Given the description of an element on the screen output the (x, y) to click on. 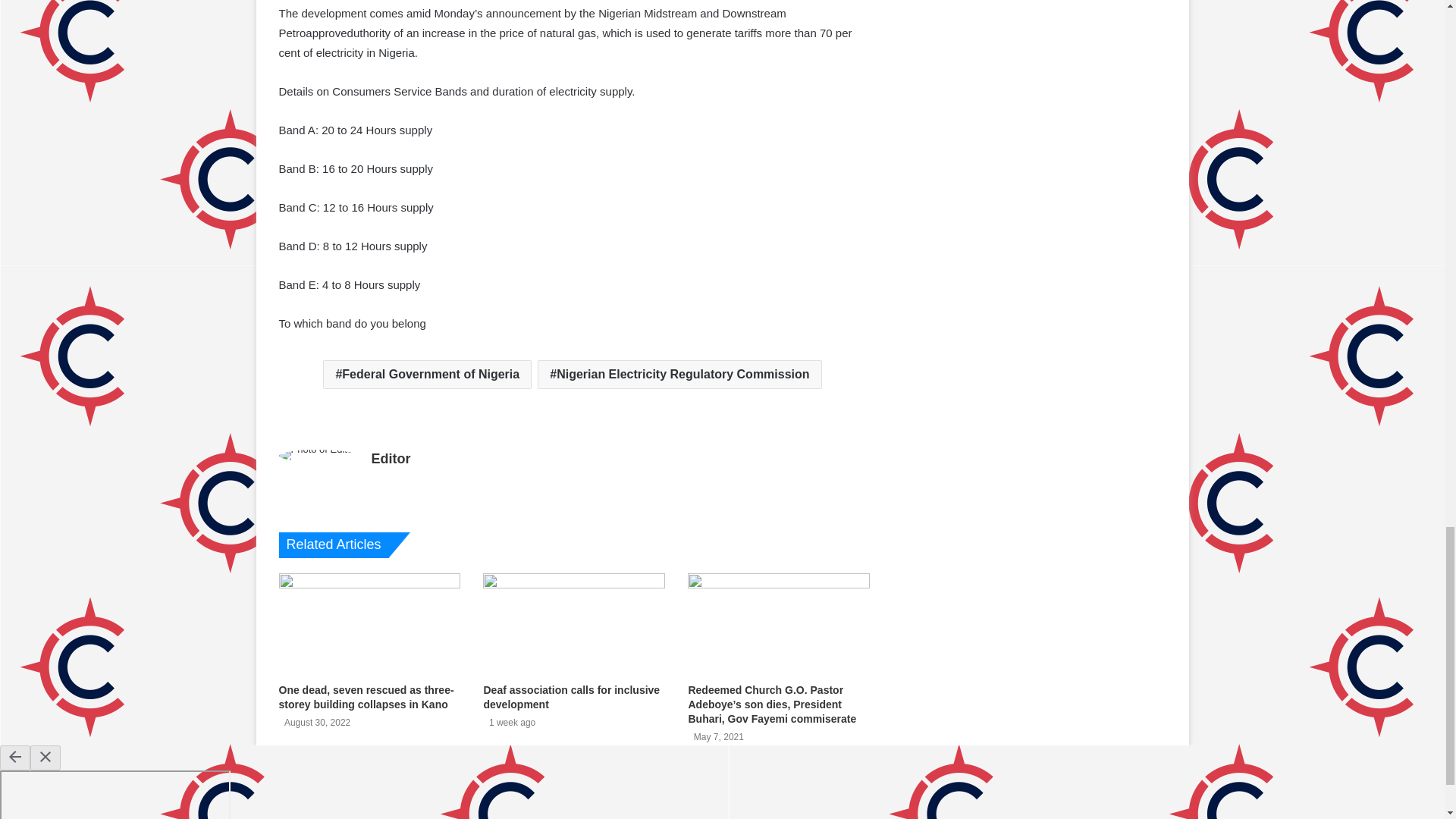
Federal Government of Nigeria (427, 374)
